Given the description of an element on the screen output the (x, y) to click on. 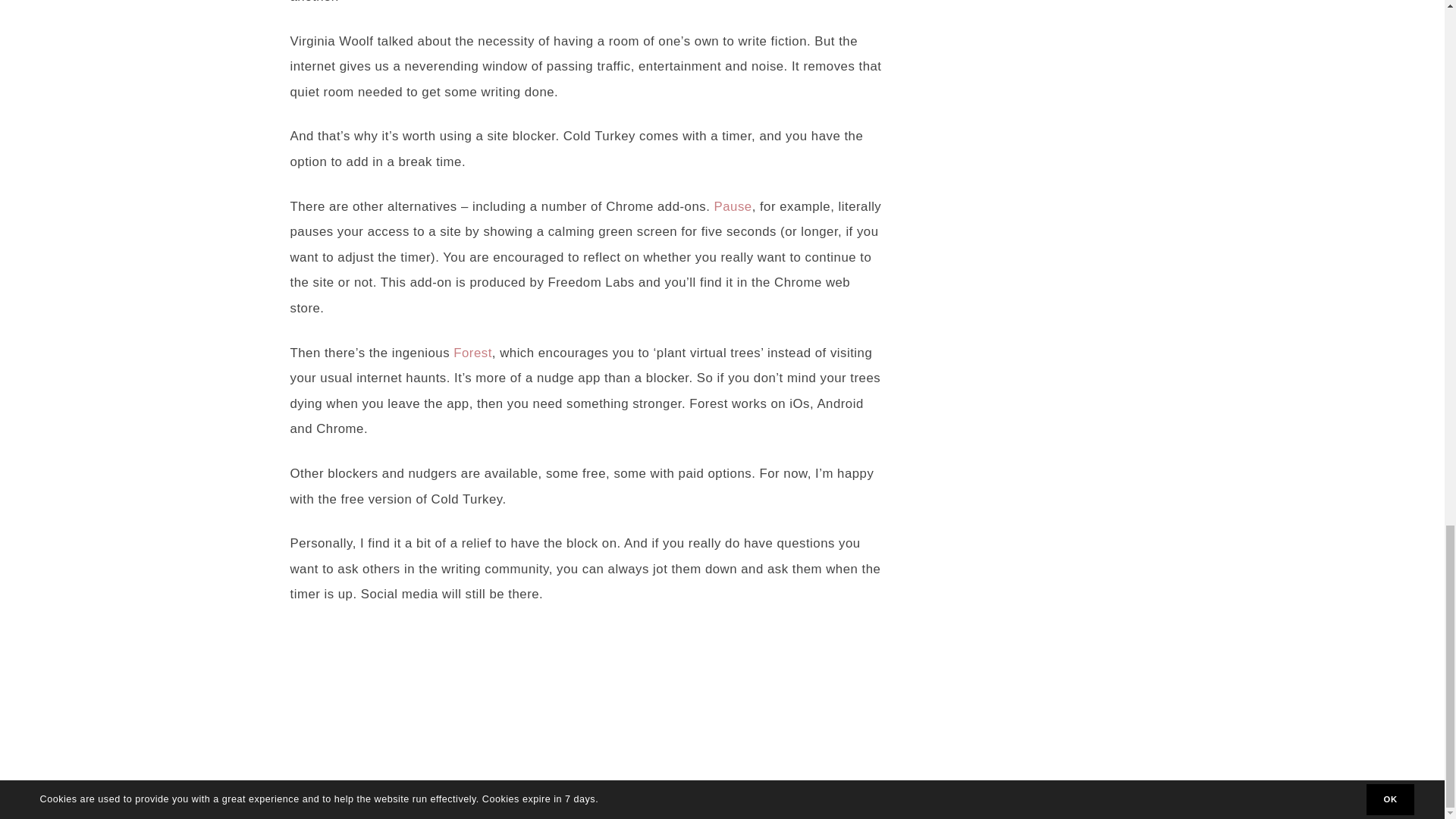
Pause (733, 206)
Forest (472, 352)
